Given the description of an element on the screen output the (x, y) to click on. 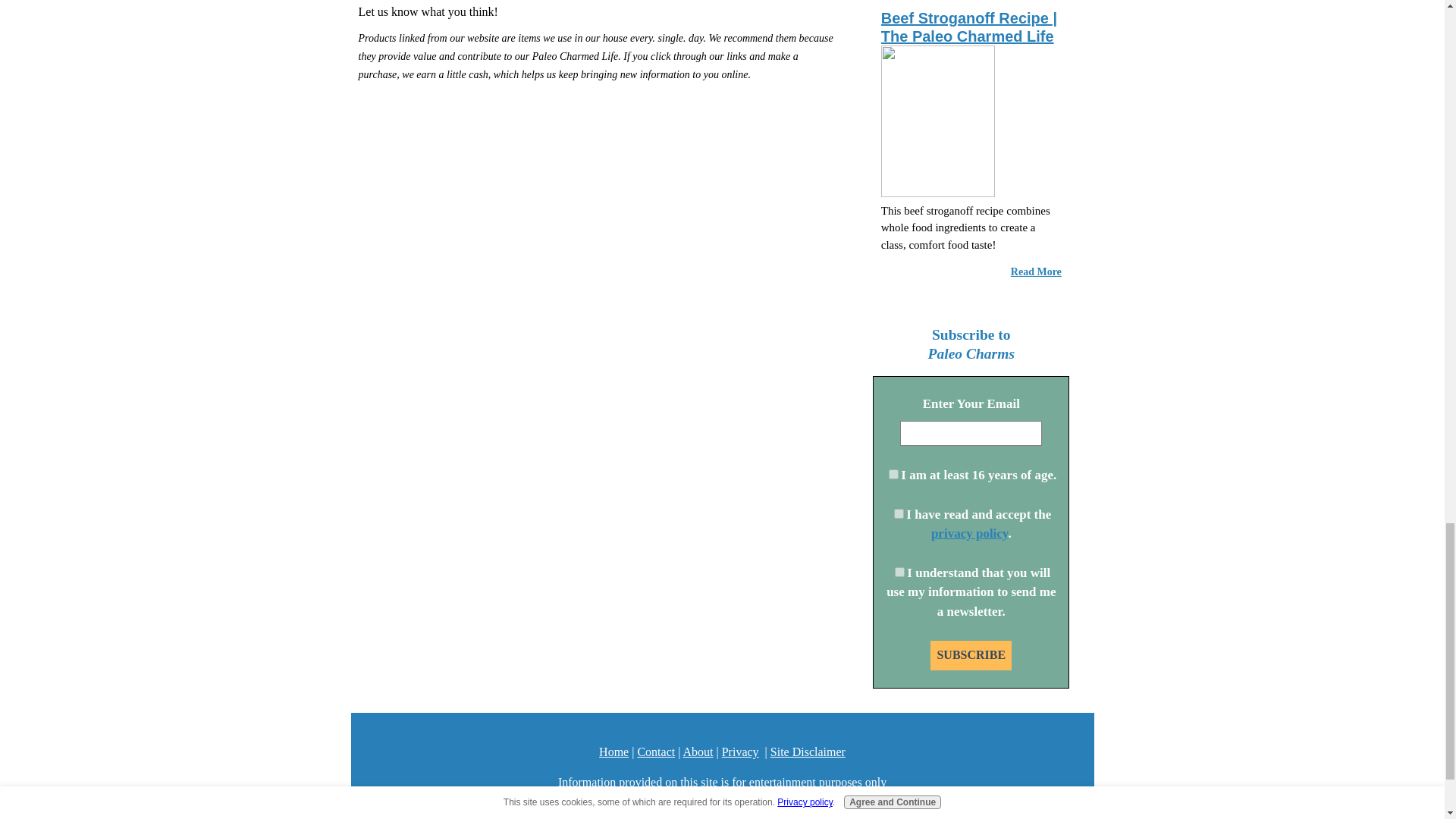
on (899, 572)
Site Disclaimer (807, 751)
privacy policy (970, 533)
Privacy (740, 751)
Read More (1035, 271)
About (697, 751)
on (893, 474)
on (898, 513)
Home (613, 751)
SUBSCRIBE (970, 654)
Contact (656, 751)
